Given the description of an element on the screen output the (x, y) to click on. 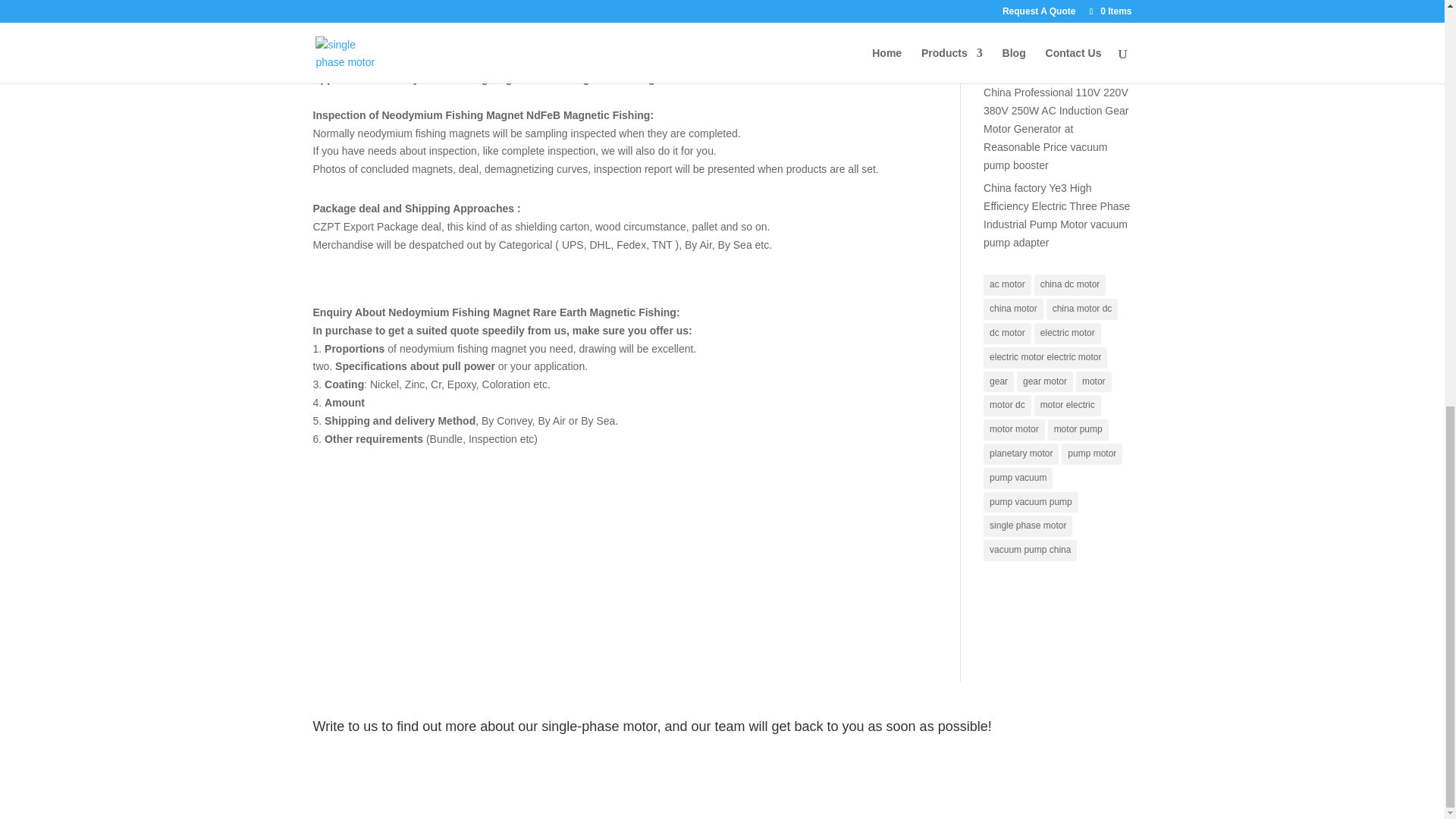
motor dc (1007, 405)
ac motor (1007, 284)
dc motor (1007, 332)
china motor (1013, 309)
electric motor electric motor (1045, 357)
gear (998, 382)
china motor dc (1082, 309)
gear motor (1044, 382)
motor pump (1078, 429)
motor (1093, 382)
china dc motor (1069, 284)
